Given the description of an element on the screen output the (x, y) to click on. 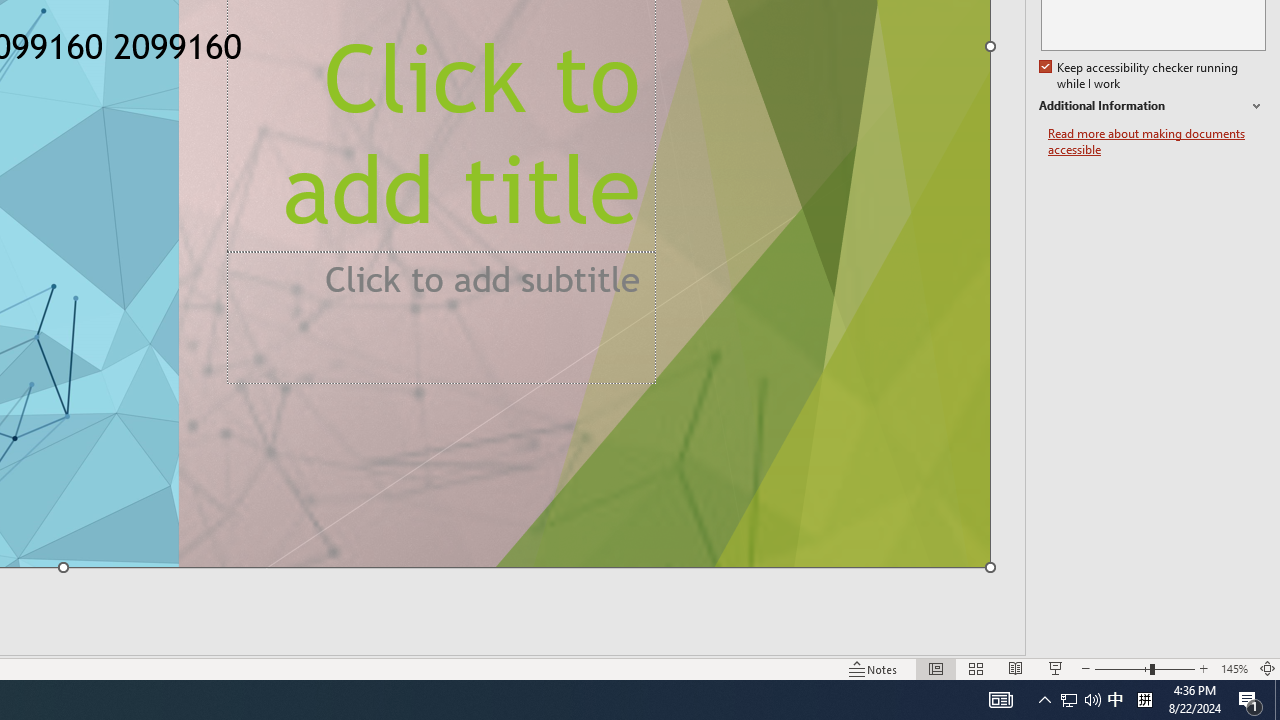
Keep accessibility checker running while I work (1140, 76)
Read more about making documents accessible (1156, 142)
Additional Information (1152, 106)
Zoom 145% (1234, 668)
